Given the description of an element on the screen output the (x, y) to click on. 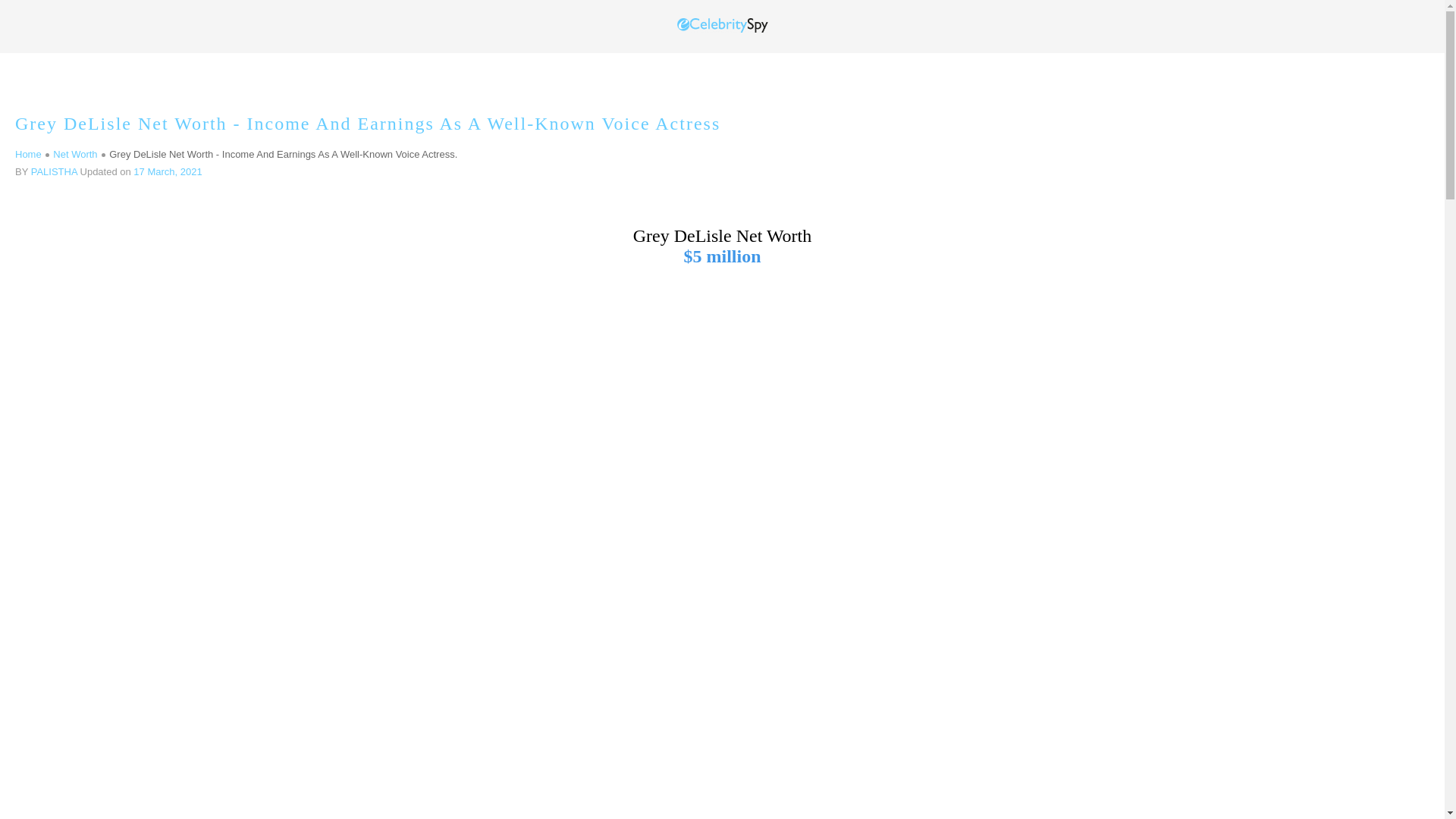
Home (31, 153)
PALISTHA (53, 171)
Net Worth (74, 153)
